Given the description of an element on the screen output the (x, y) to click on. 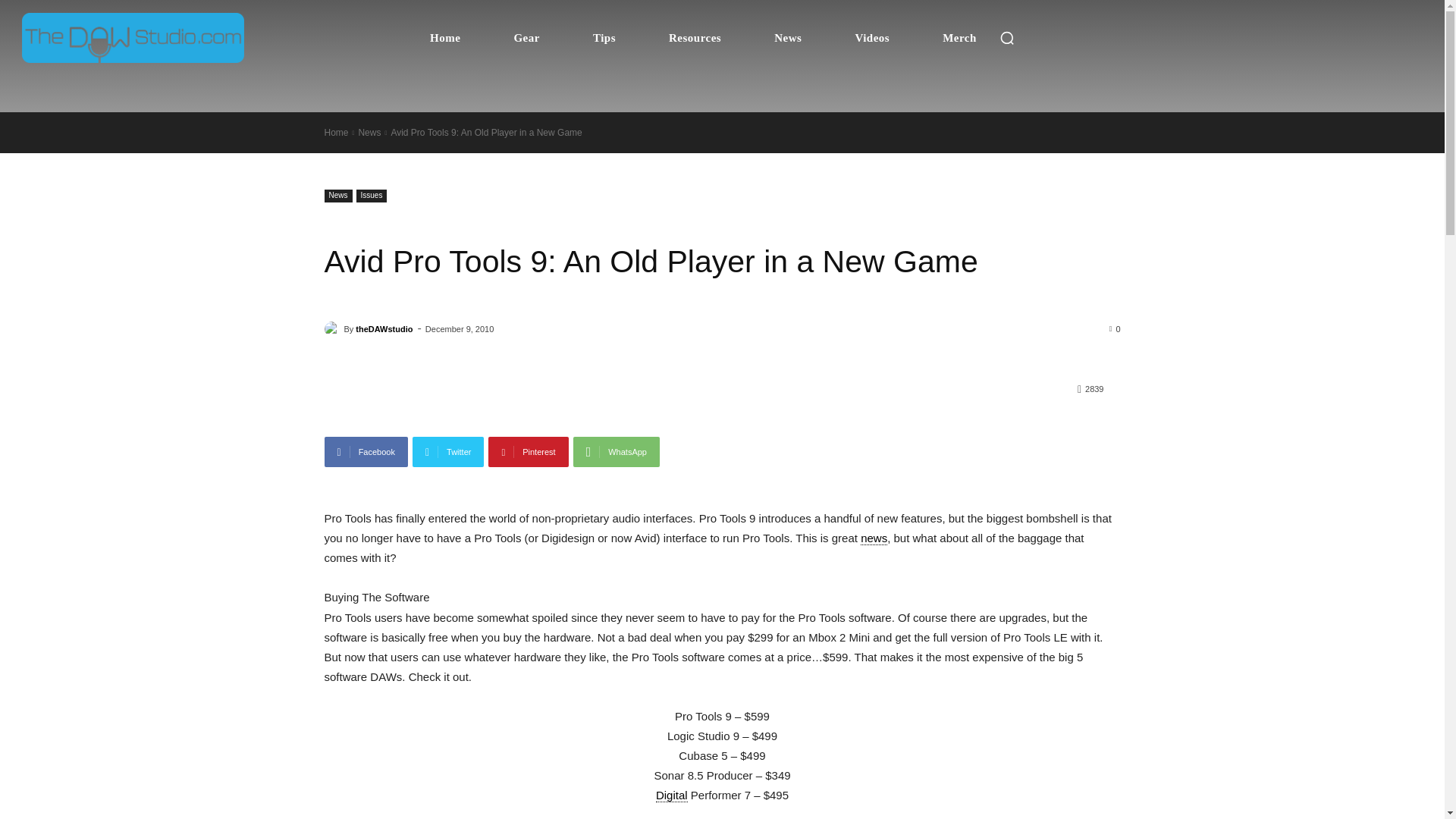
theDAWstudio (333, 328)
View all posts in News (369, 132)
Welcome to theDAWstudio.com (132, 37)
Resources (695, 38)
Facebook (365, 451)
